Given the description of an element on the screen output the (x, y) to click on. 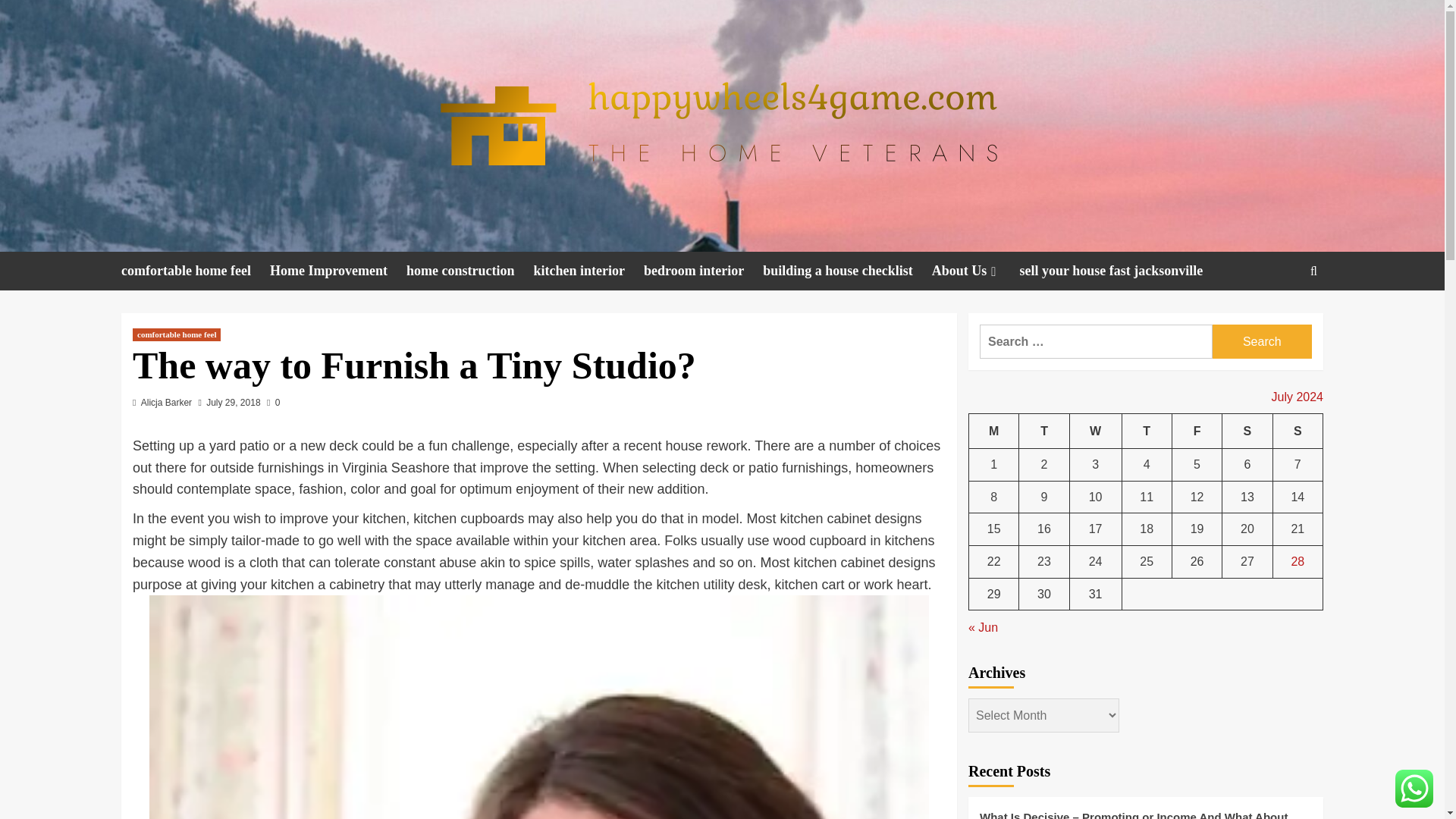
Friday (1196, 430)
Tuesday (1043, 430)
Search (1261, 341)
Monday (994, 430)
0 (272, 402)
Search (1261, 341)
Saturday (1247, 430)
Home Improvement (337, 270)
sell your house fast jacksonville (1121, 270)
Alicja Barker (166, 402)
Thursday (1146, 430)
building a house checklist (846, 270)
About Us (975, 270)
July 29, 2018 (233, 402)
kitchen interior (588, 270)
